Given the description of an element on the screen output the (x, y) to click on. 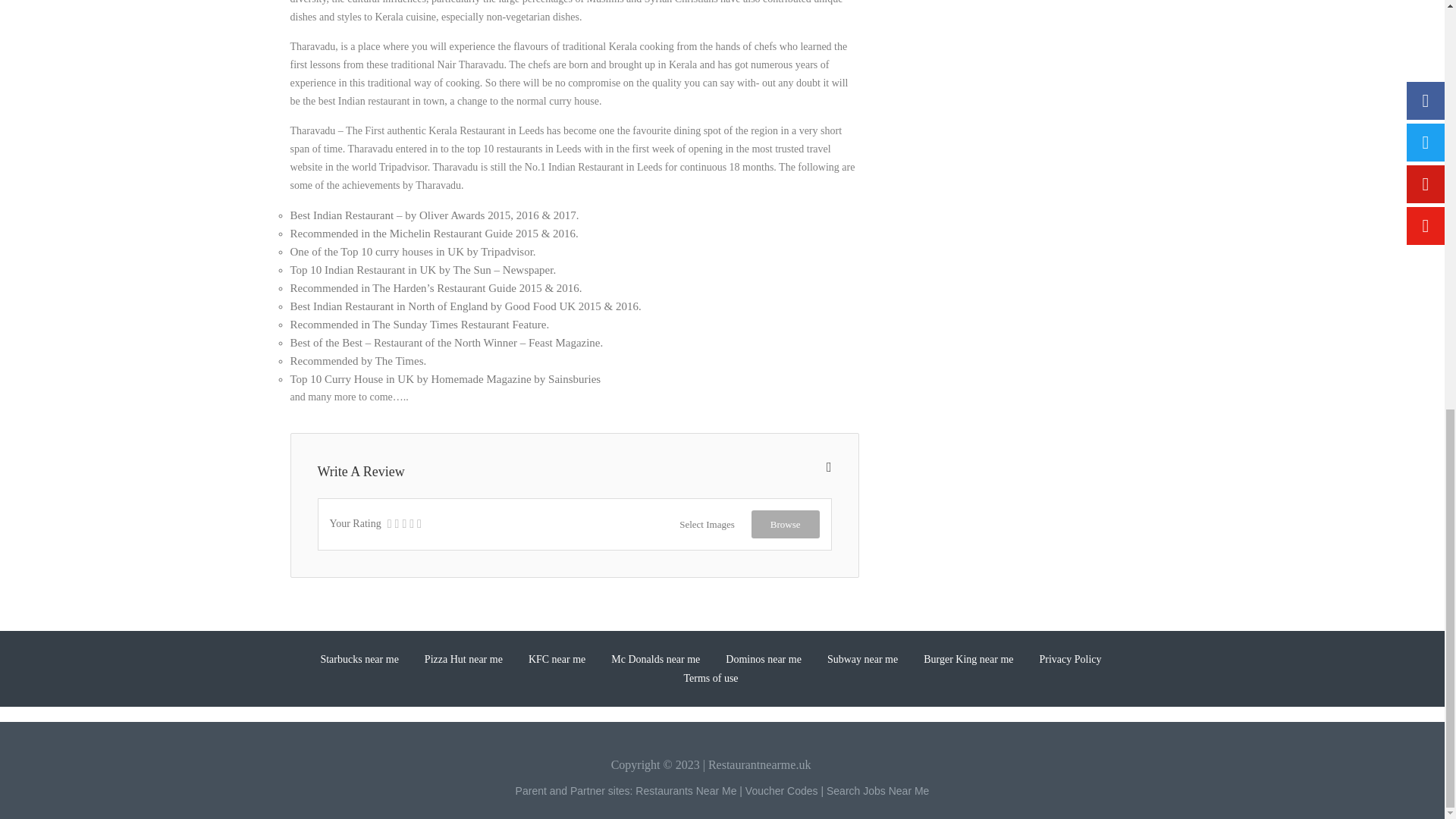
Browse (785, 524)
